Given the description of an element on the screen output the (x, y) to click on. 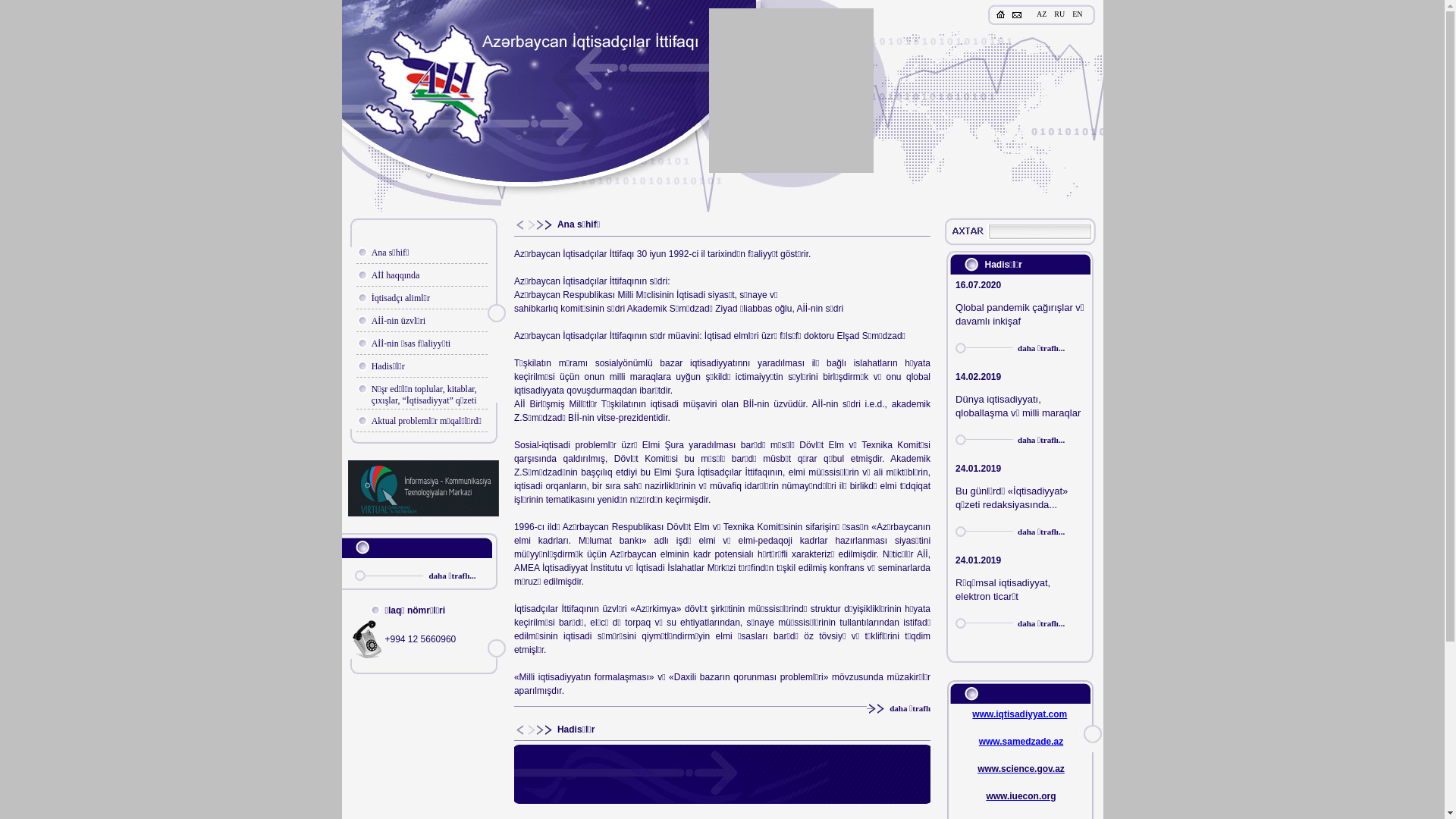
www.science.gov.az Element type: text (1020, 768)
RU Element type: text (1059, 13)
AZ Element type: text (1041, 13)
www.iqtisadiyyat.com Element type: text (1019, 714)
www.samedzade.az Element type: text (1021, 741)
EN Element type: text (1077, 13)
  Element type: text (968, 231)
www.iuecon.org Element type: text (1020, 795)
